Given the description of an element on the screen output the (x, y) to click on. 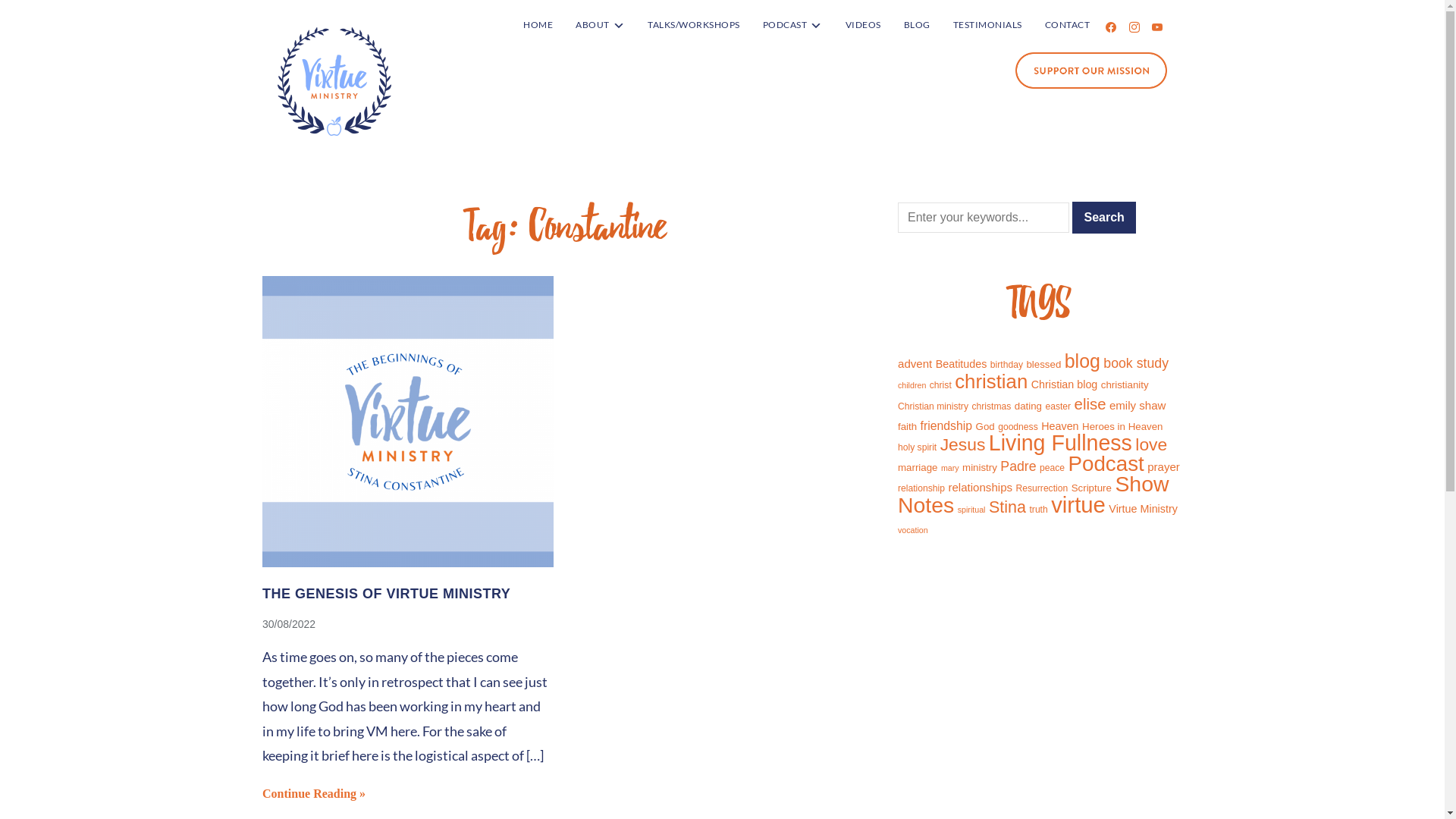
VIDEOS Element type: text (862, 24)
Virtue Ministry Element type: text (1142, 508)
marriage Element type: text (917, 467)
holy spirit Element type: text (916, 447)
prayer Element type: text (1163, 466)
friendship Element type: text (946, 425)
emily shaw Element type: text (1137, 404)
instagram Element type: text (1133, 25)
ministry Element type: text (979, 467)
God Element type: text (984, 426)
christianity Element type: text (1124, 384)
mary Element type: text (950, 467)
christ Element type: text (940, 384)
Christian blog Element type: text (1064, 384)
PODCAST Element type: text (792, 24)
book study Element type: text (1135, 362)
advent Element type: text (914, 363)
love Element type: text (1151, 444)
Christian ministry Element type: text (932, 406)
Living Fullness Element type: text (1060, 442)
Podcast Element type: text (1106, 463)
goodness Element type: text (1017, 426)
peace Element type: text (1051, 467)
children Element type: text (911, 384)
The genesis of Virtue Ministry Element type: hover (407, 562)
elise Element type: text (1090, 403)
TESTIMONIALS Element type: text (986, 24)
facebook Element type: text (1110, 25)
vocation Element type: text (912, 529)
birthday Element type: text (1006, 364)
youtube Element type: text (1157, 25)
Stina Element type: text (1007, 507)
Search Element type: text (1103, 217)
blog Element type: text (1082, 360)
Padre Element type: text (1017, 465)
ABOUT Element type: text (599, 24)
Heaven Element type: text (1059, 426)
relationship Element type: text (920, 488)
Resurrection Element type: text (1042, 488)
christian Element type: text (990, 381)
virtue Element type: text (1078, 504)
Heroes in Heaven Element type: text (1122, 426)
blessed Element type: text (1043, 364)
christmas Element type: text (990, 406)
TALKS/WORKSHOPS Element type: text (693, 24)
CONTACT Element type: text (1067, 24)
Beatitudes Element type: text (961, 363)
THE GENESIS OF VIRTUE MINISTRY Element type: text (386, 593)
BLOG Element type: text (916, 24)
HOME Element type: text (537, 24)
Show Notes Element type: text (1033, 493)
dating Element type: text (1027, 405)
Scripture Element type: text (1091, 487)
relationships Element type: text (979, 486)
easter Element type: text (1057, 406)
faith Element type: text (906, 426)
Jesus Element type: text (962, 444)
spiritual Element type: text (971, 509)
truth Element type: text (1038, 509)
